Given the description of an element on the screen output the (x, y) to click on. 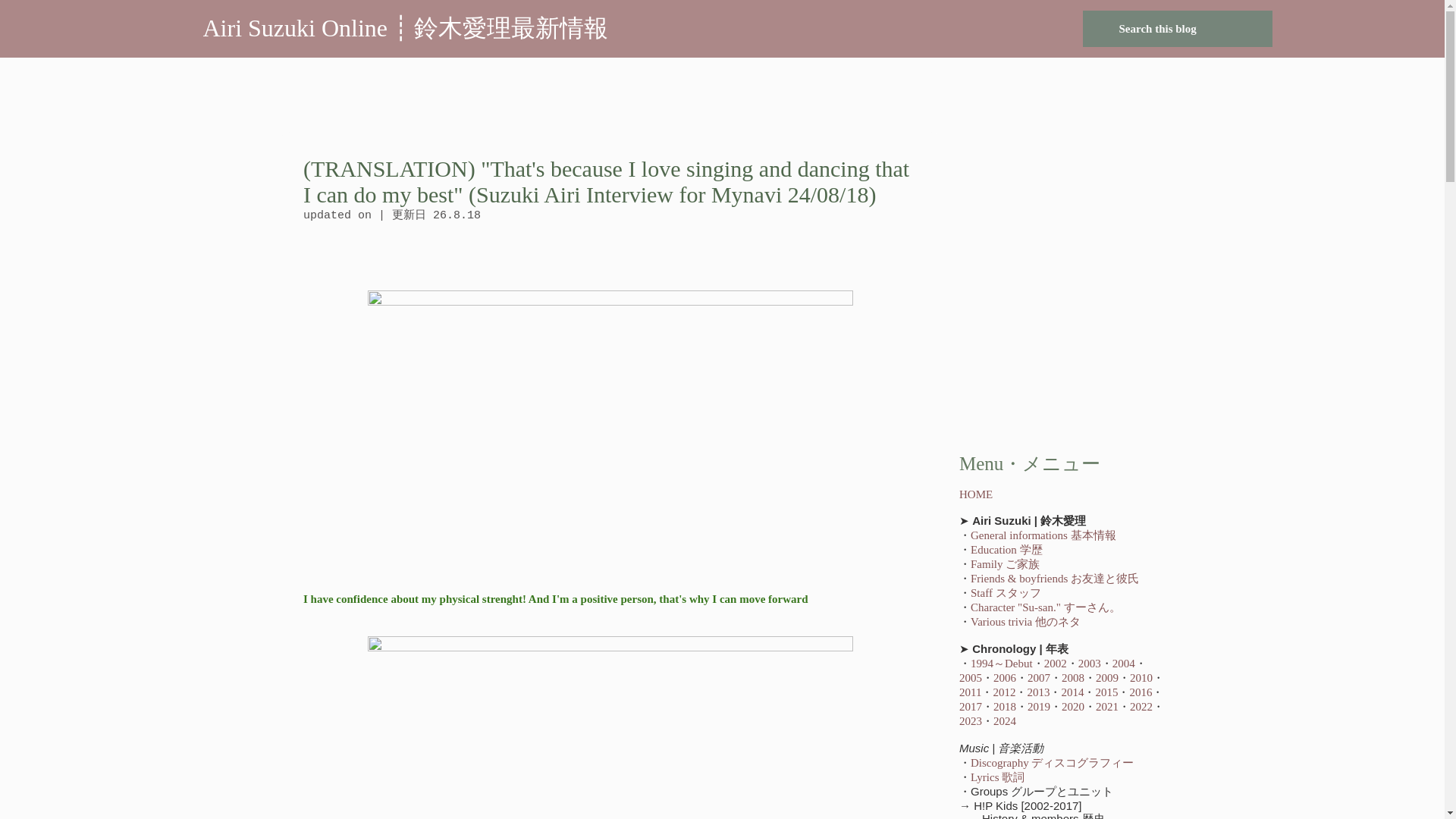
2011 (970, 692)
permanent link (456, 215)
2004 (1123, 663)
2007 (1038, 677)
2003 (1089, 663)
2008 (1072, 677)
2006 (1004, 677)
2002 (1055, 663)
2010 (1141, 677)
2005 (970, 677)
HOME (975, 494)
2009 (1107, 677)
26.8.18 (456, 215)
